Given the description of an element on the screen output the (x, y) to click on. 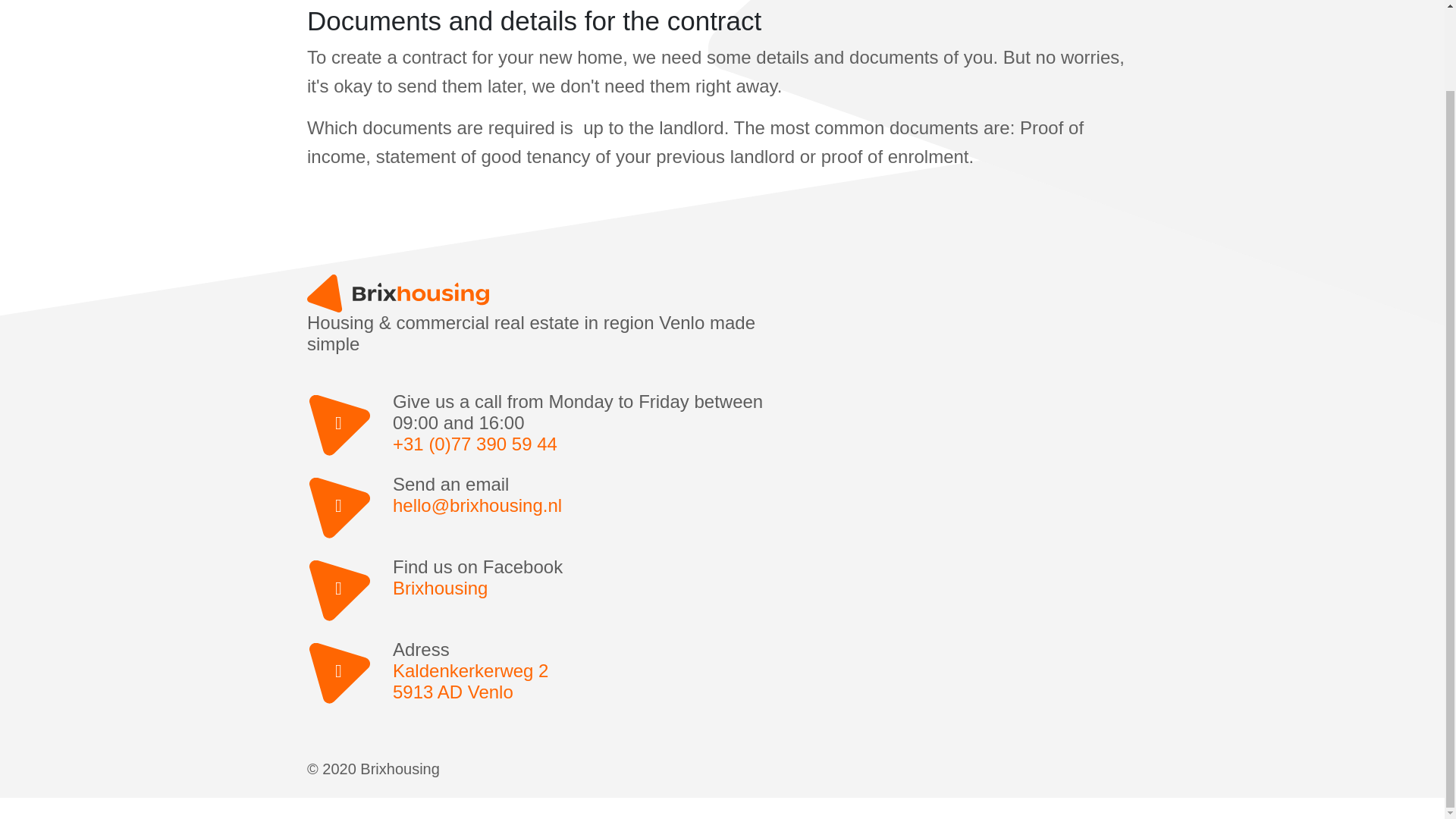
Brixhousing (588, 588)
Home (588, 681)
